Given the description of an element on the screen output the (x, y) to click on. 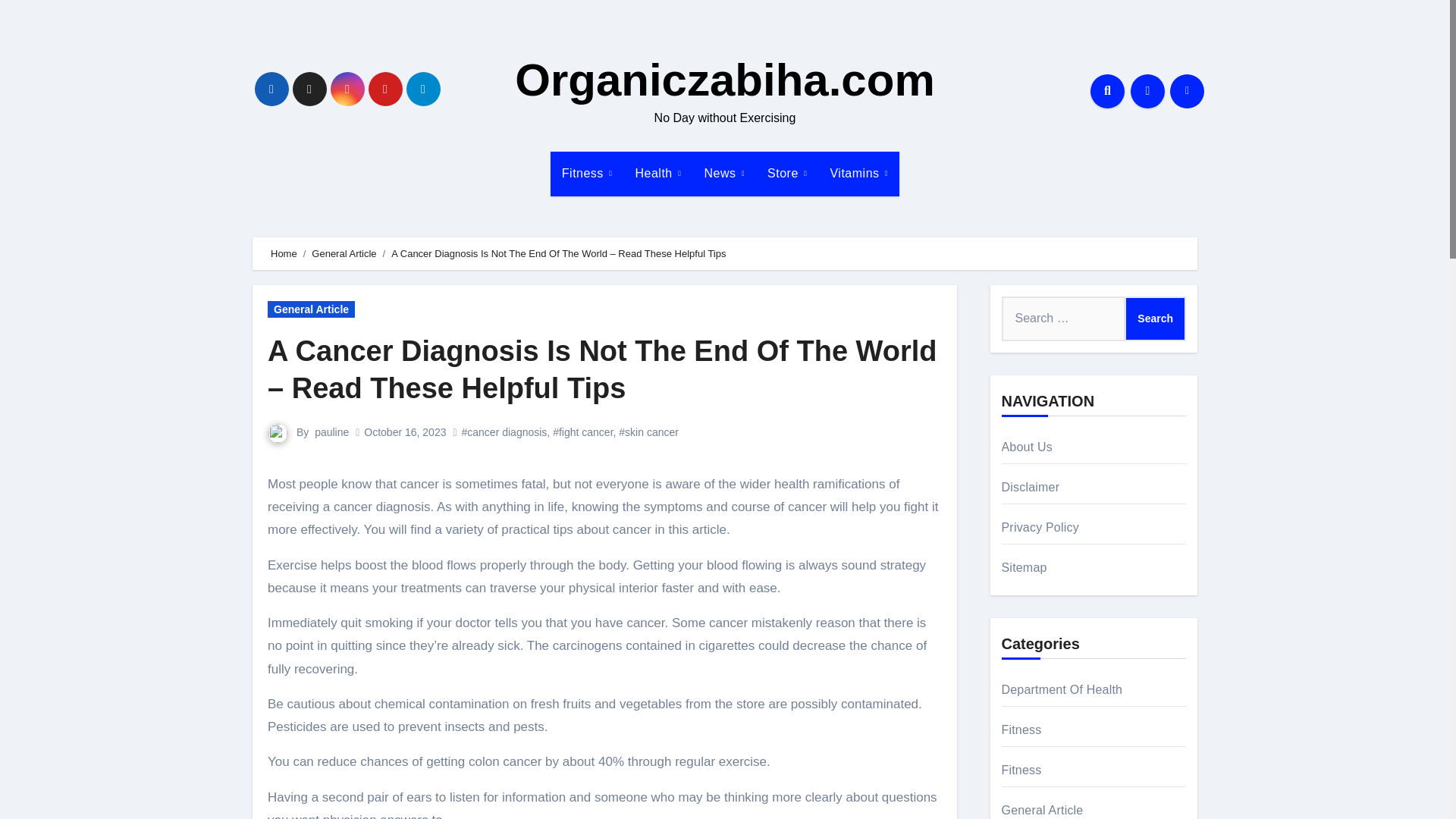
General Article (311, 309)
General Article (343, 253)
Fitness (587, 173)
Vitamins (858, 173)
Fitness (587, 173)
Store (786, 173)
Search (1155, 318)
Search (1155, 318)
Health (658, 173)
Organiczabiha.com (724, 79)
